Given the description of an element on the screen output the (x, y) to click on. 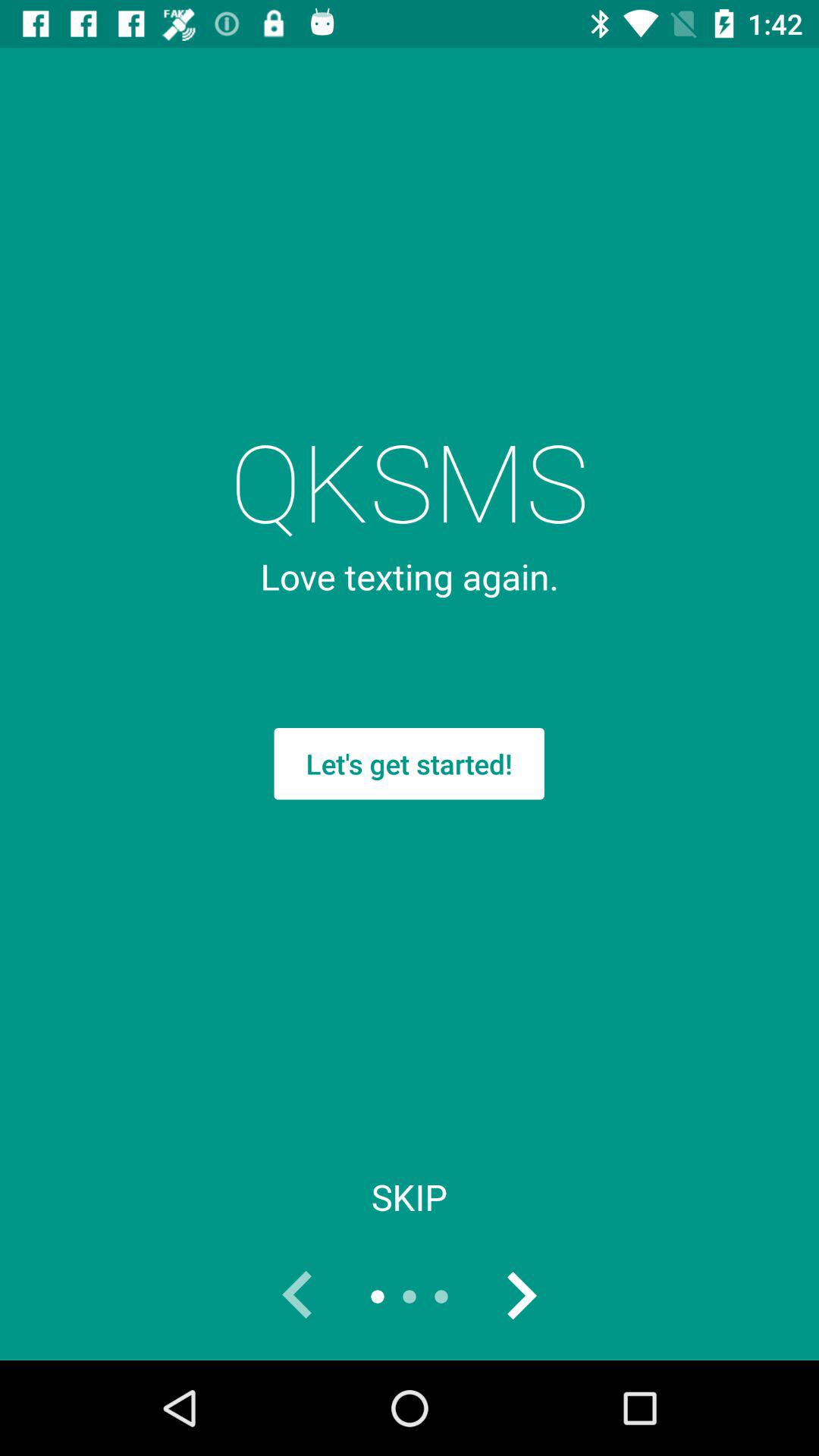
tap the let s get (409, 763)
